Given the description of an element on the screen output the (x, y) to click on. 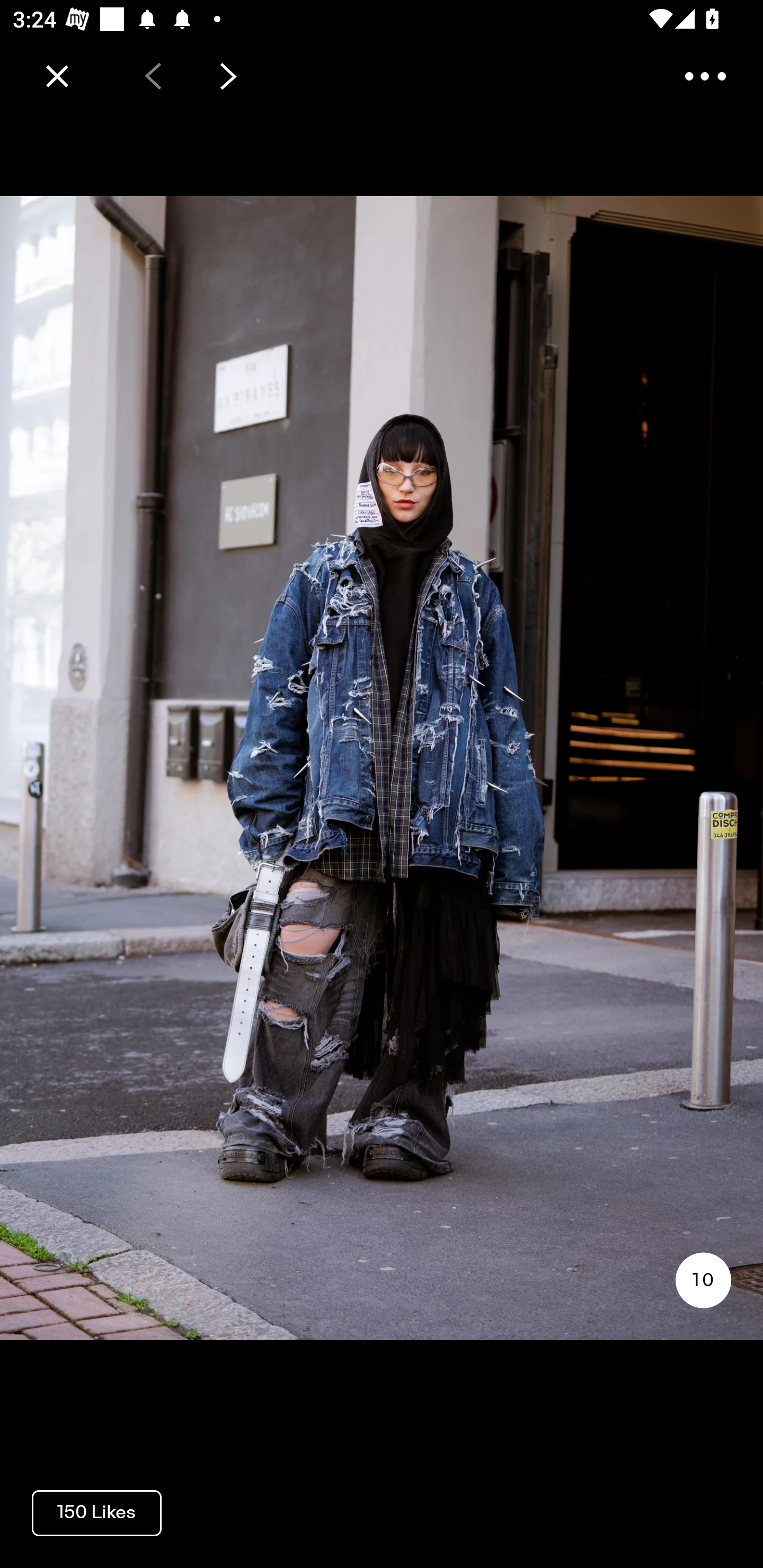
10 (702, 1279)
150 Likes (96, 1512)
